Given the description of an element on the screen output the (x, y) to click on. 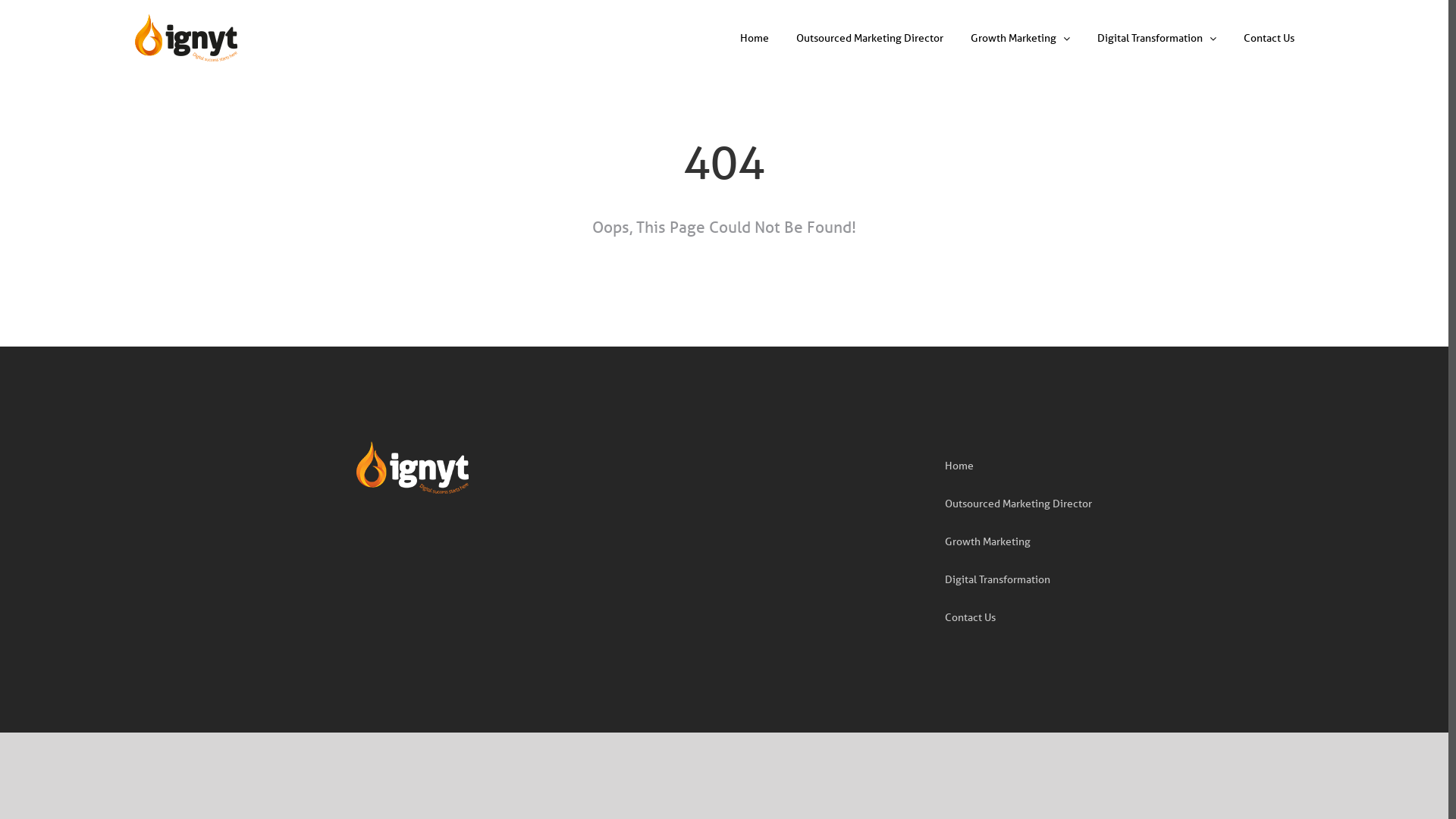
Growth Marketing Element type: text (1016, 37)
Digital Transformation Element type: text (997, 579)
Contact Us Element type: text (1264, 37)
Home Element type: text (958, 465)
Growth Marketing Element type: text (987, 541)
Digital Transformation Element type: text (1152, 37)
Outsourced Marketing Director Element type: text (865, 37)
Home Element type: text (749, 37)
Contact Us Element type: text (969, 617)
Outsourced Marketing Director Element type: text (1018, 503)
